Given the description of an element on the screen output the (x, y) to click on. 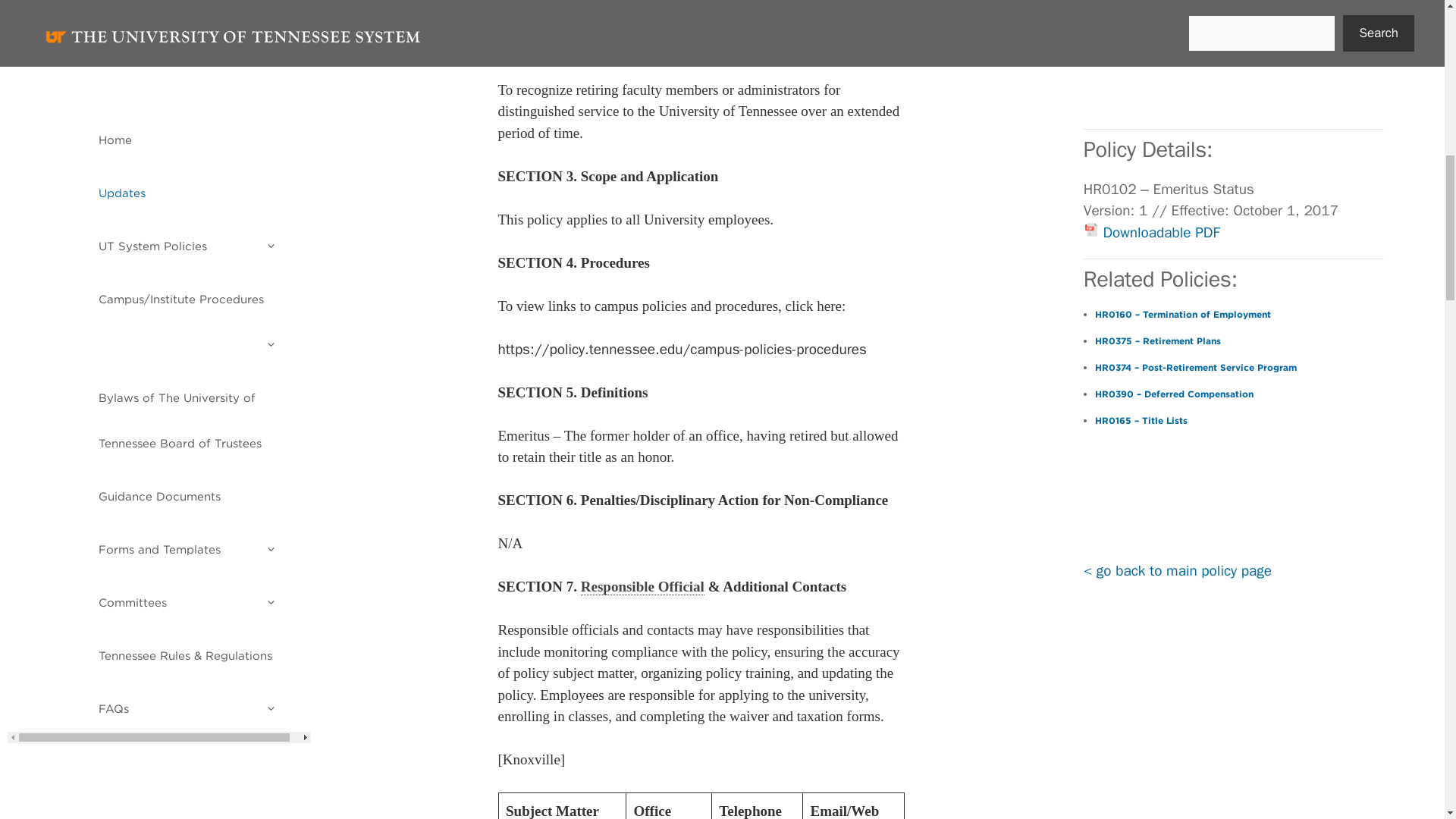
Scroll back to top (1406, 720)
